Given the description of an element on the screen output the (x, y) to click on. 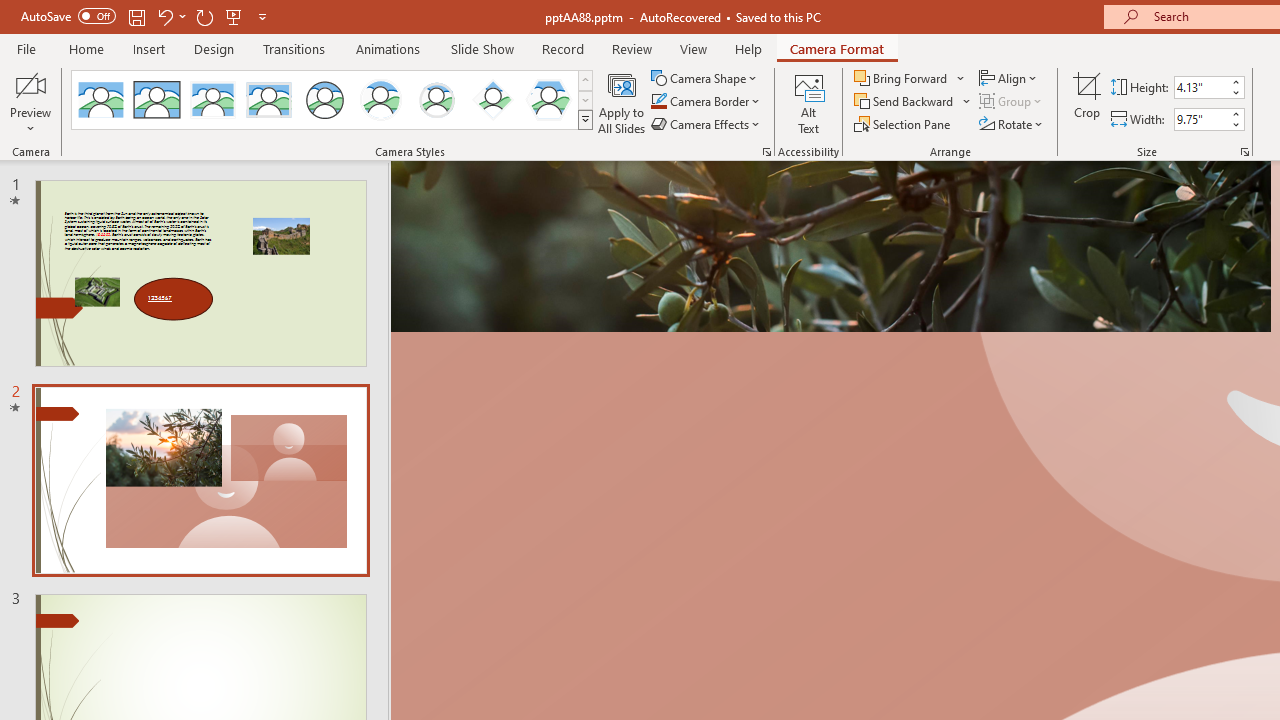
Send Backward (913, 101)
Soft Edge Circle (436, 100)
AutomationID: CameoStylesGallery (333, 99)
Bring Forward (902, 78)
Align (1009, 78)
Alt Text (808, 102)
